Given the description of an element on the screen output the (x, y) to click on. 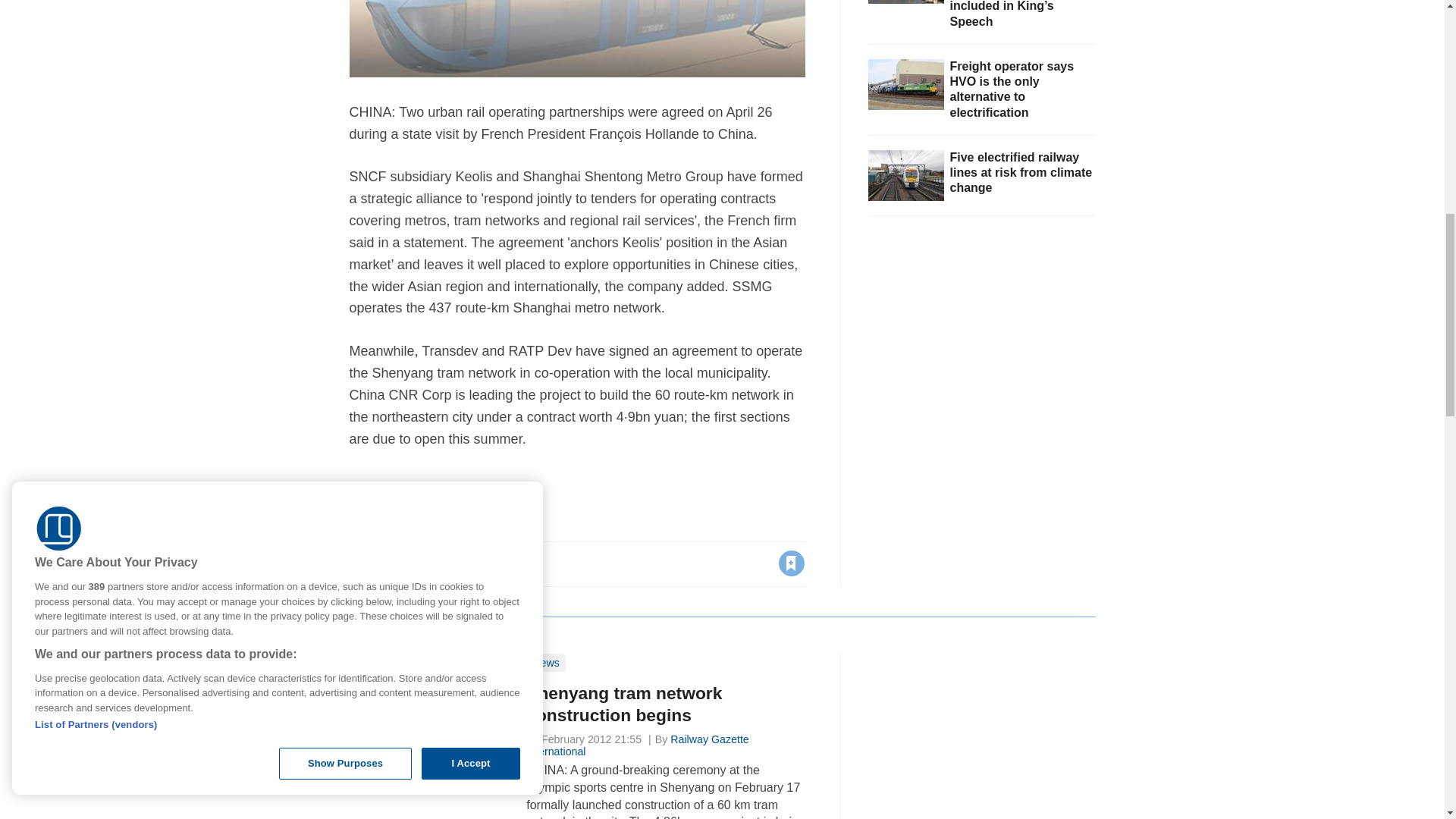
Email this article (460, 563)
Share this on Facebook (362, 563)
Share this on Linked in (427, 563)
Share this on Twitter (395, 563)
